Given the description of an element on the screen output the (x, y) to click on. 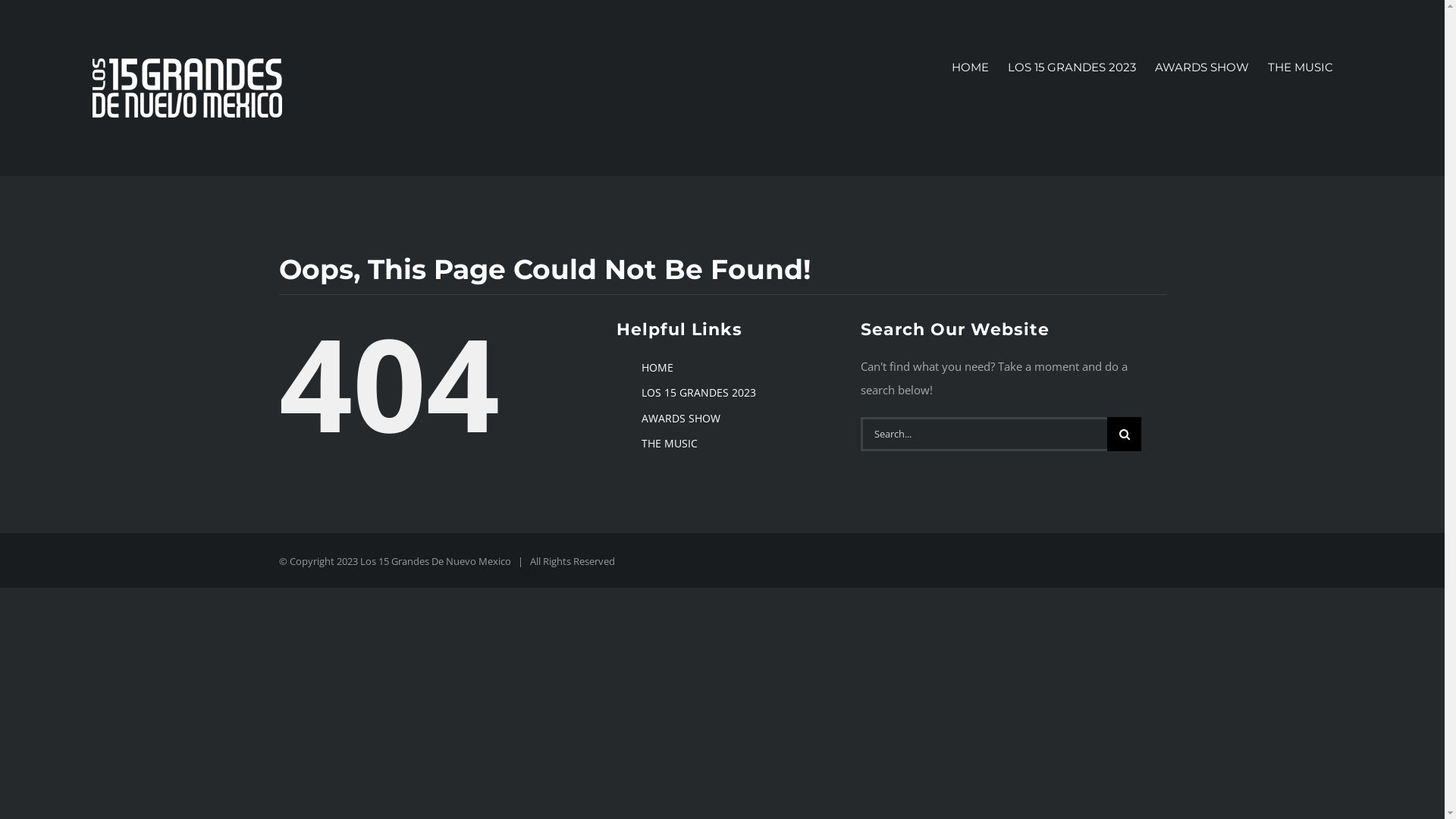
HOME Element type: text (657, 367)
LOS 15 GRANDES 2023 Element type: text (698, 392)
AWARDS SHOW Element type: text (680, 418)
THE MUSIC Element type: text (1300, 66)
LOS 15 GRANDES 2023 Element type: text (1071, 66)
HOME Element type: text (969, 66)
AWARDS SHOW Element type: text (1201, 66)
THE MUSIC Element type: text (669, 443)
